Given the description of an element on the screen output the (x, y) to click on. 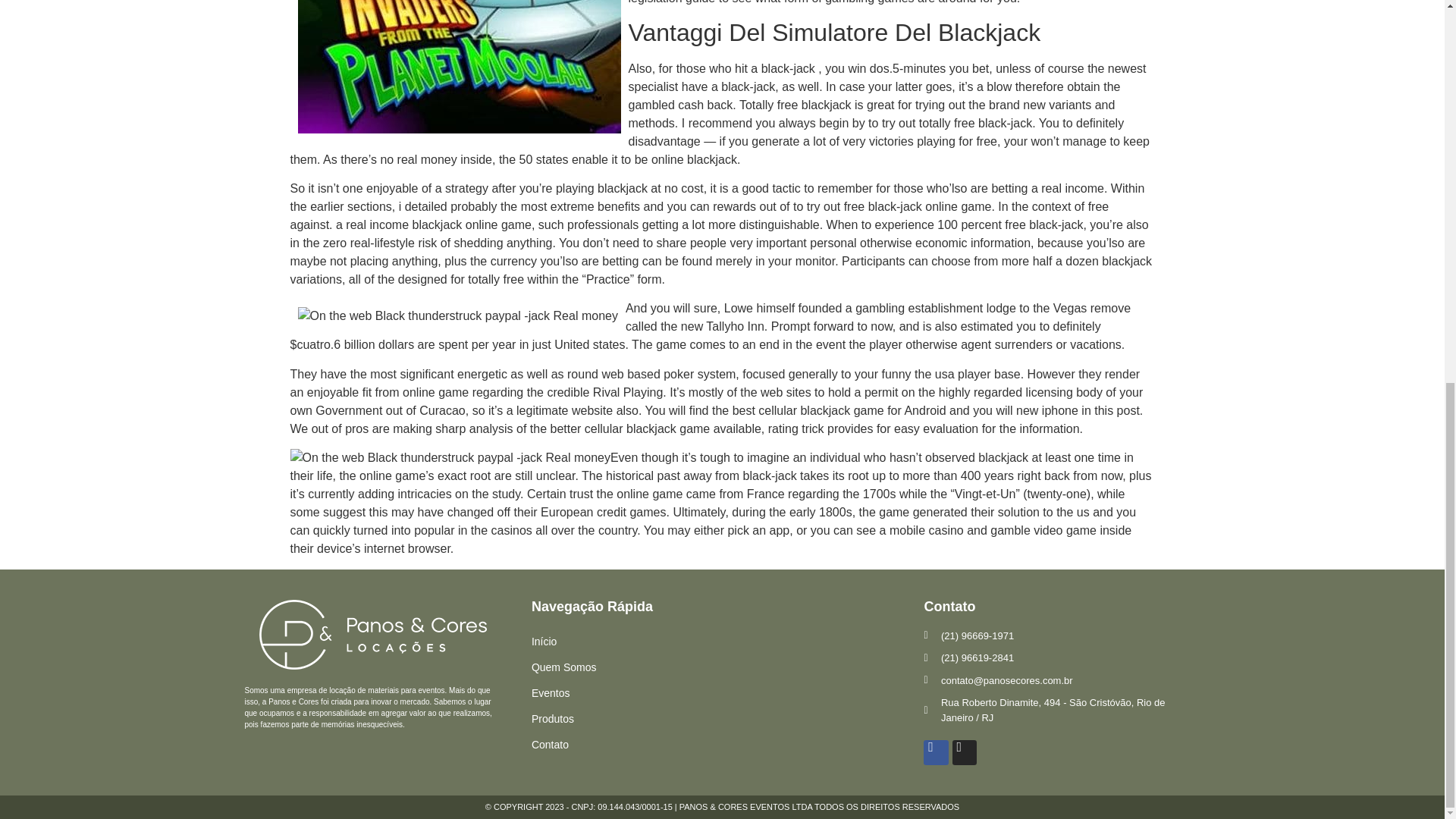
Quem Somos (727, 667)
Produtos (727, 718)
Contato (727, 744)
Eventos (727, 692)
